Given the description of an element on the screen output the (x, y) to click on. 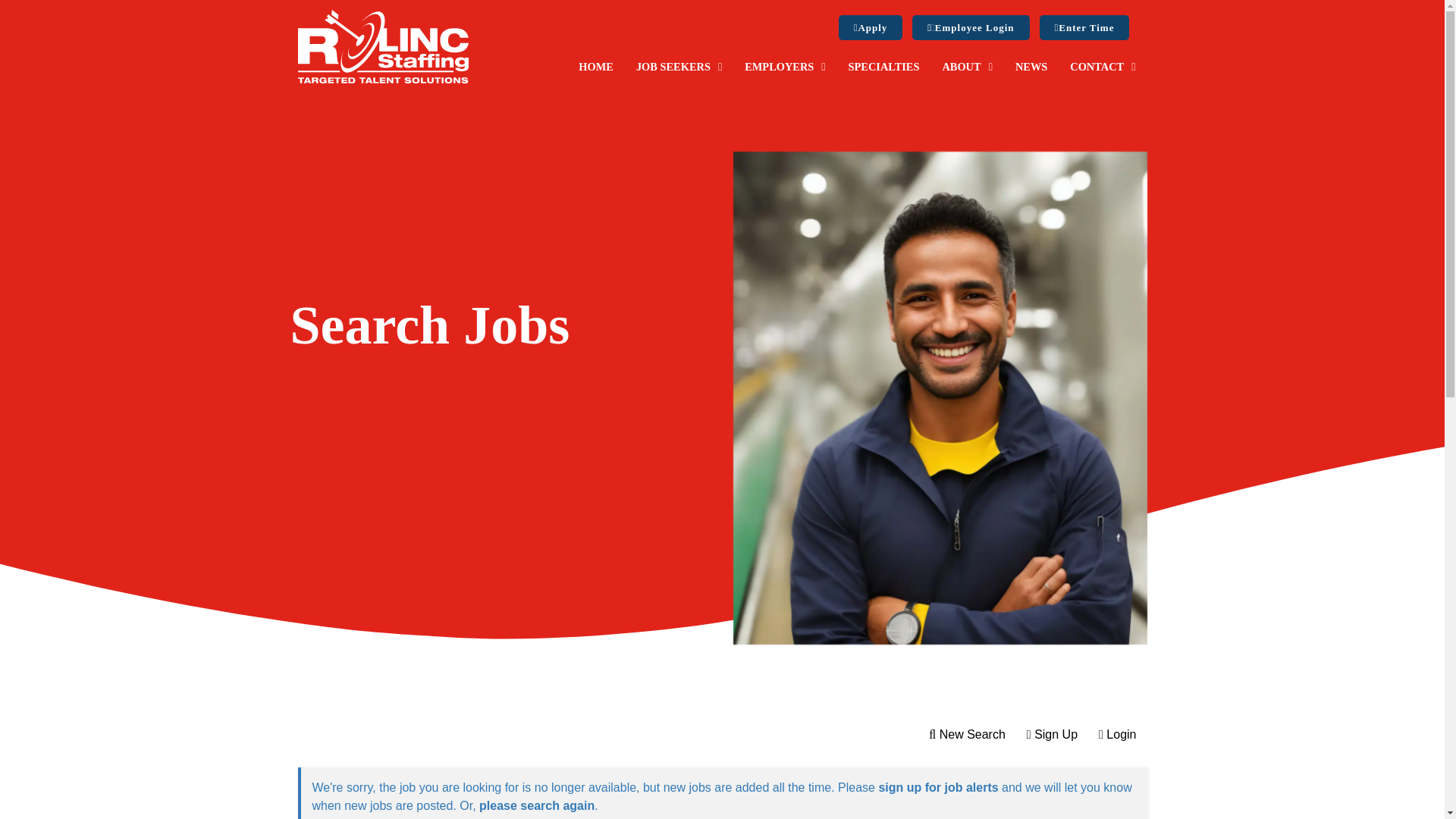
Employee Login (970, 27)
HOME (595, 66)
ABOUT (966, 66)
CONTACT (1102, 66)
JOB SEEKERS (678, 66)
SPECIALTIES (884, 66)
Apply (870, 27)
NEWS (1031, 66)
Enter Time (1084, 27)
EMPLOYERS (784, 66)
